Given the description of an element on the screen output the (x, y) to click on. 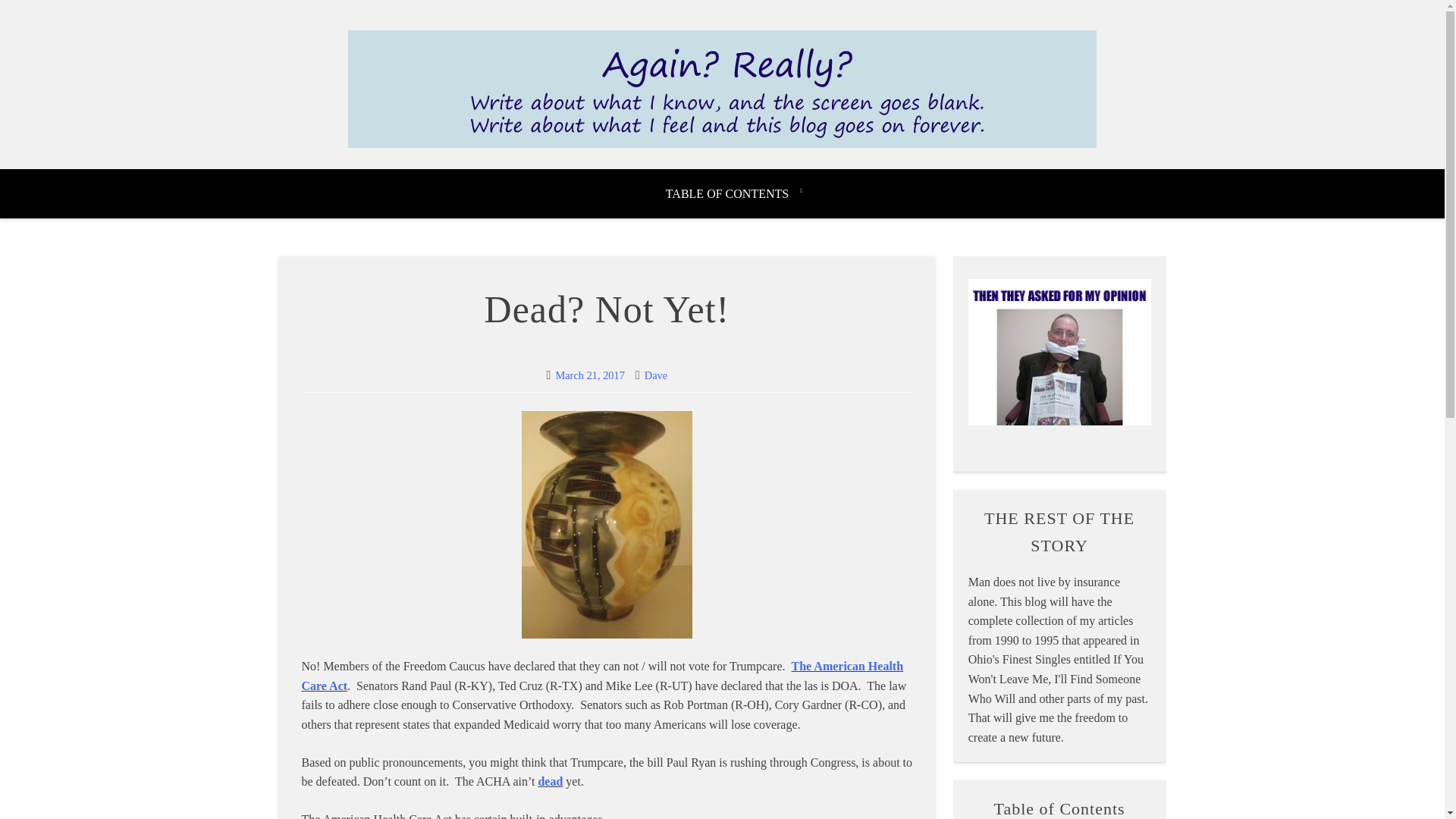
The American Health Care Act (602, 676)
March 21, 2017 (589, 375)
TABLE OF CONTENTS (734, 193)
Dave (655, 375)
dead (549, 780)
